Given the description of an element on the screen output the (x, y) to click on. 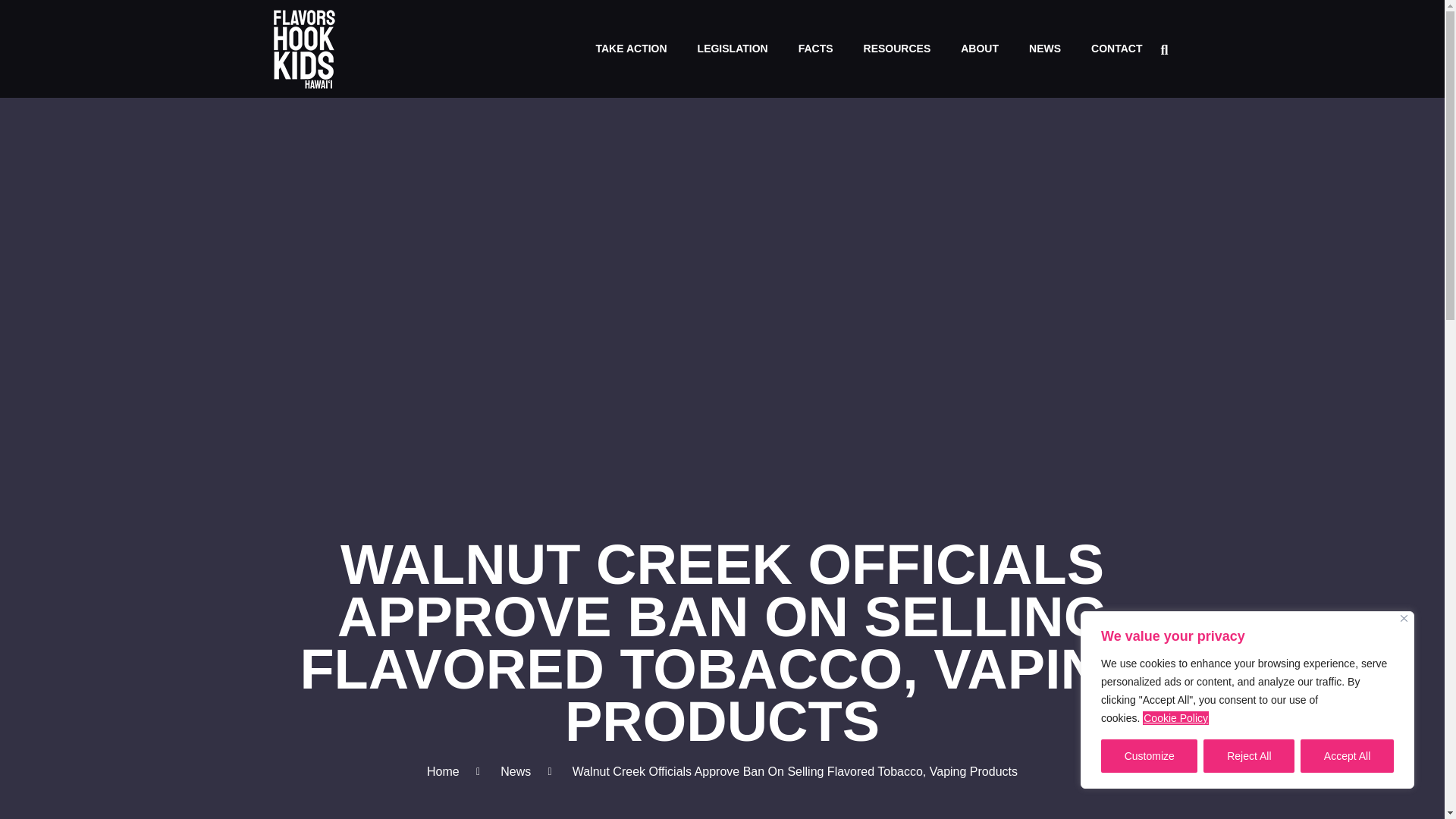
Customize (1148, 756)
RESOURCES (897, 48)
LEGISLATION (732, 48)
NEWS (1044, 48)
Accept All (1346, 756)
Cookie Policy (1175, 717)
Reject All (1249, 756)
TAKE ACTION (630, 48)
CONTACT (1116, 48)
FACTS (815, 48)
